Given the description of an element on the screen output the (x, y) to click on. 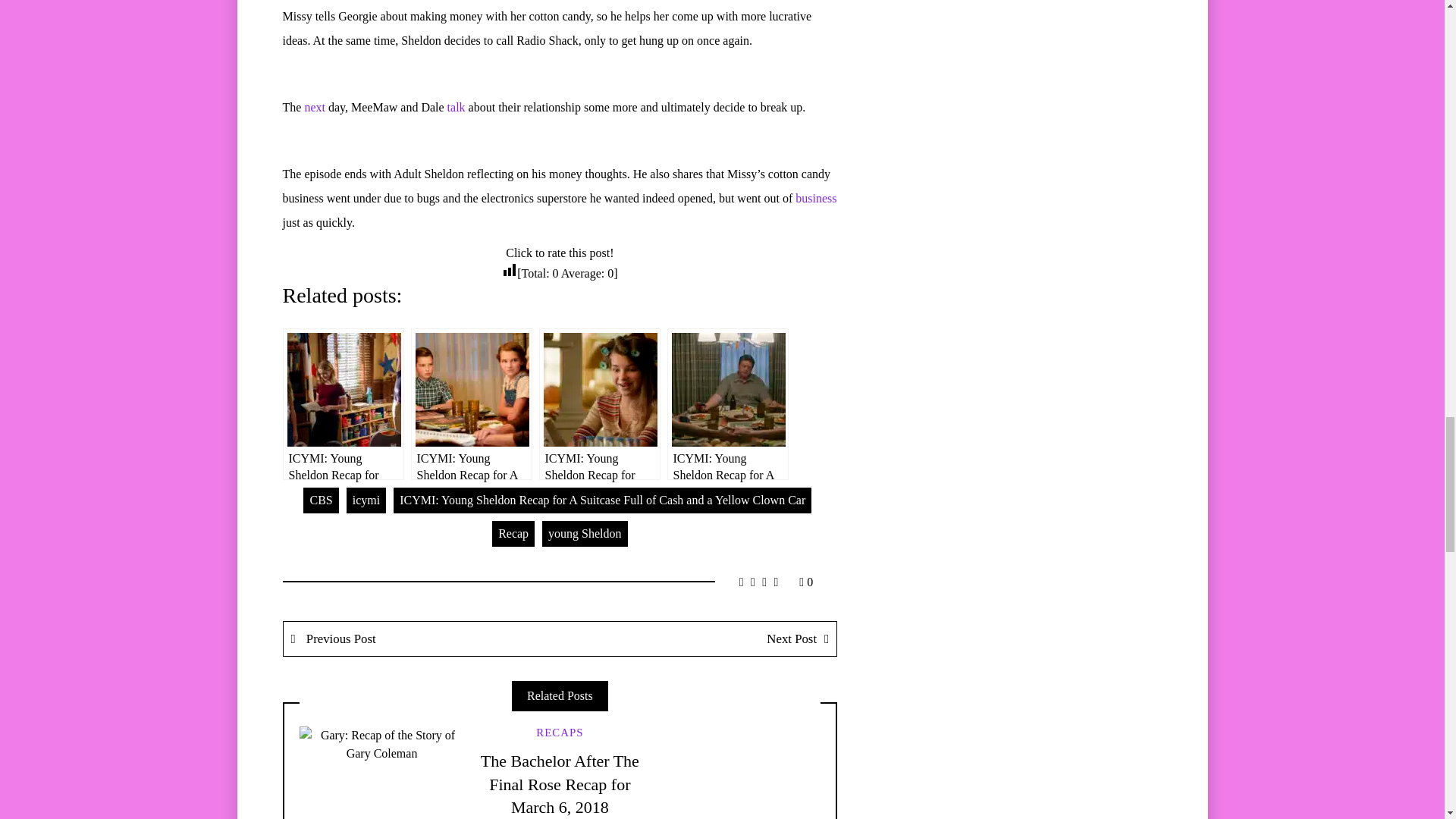
Permalink to: "Corporate Season 1, Episode 7 Recap" (738, 772)
Permalink to: "Gary: Recap of the Story of Gary Coleman" (381, 772)
The Bachelor After The Final Rose Recap for March 6, 2018 (559, 784)
